Given the description of an element on the screen output the (x, y) to click on. 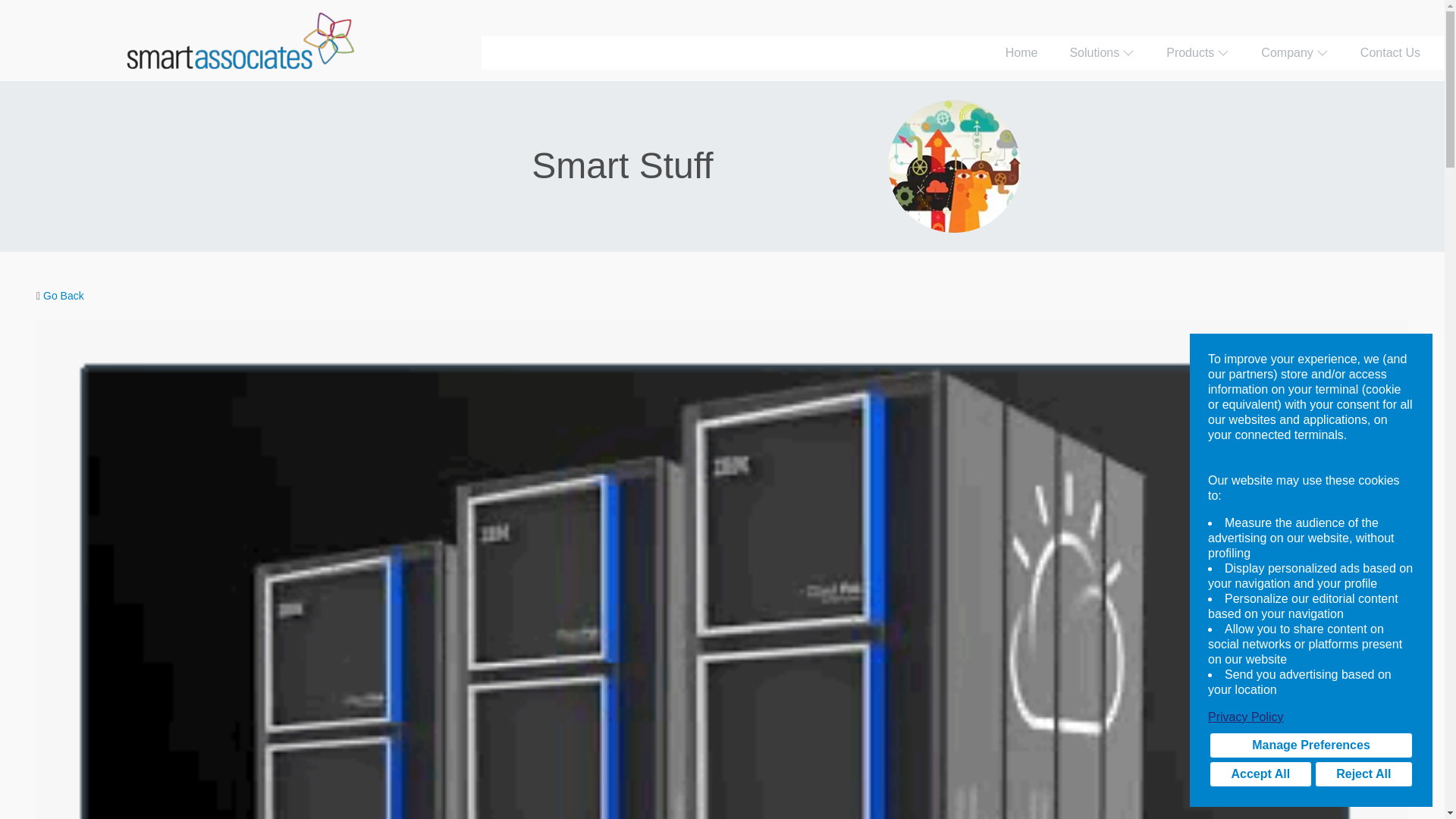
Reject All (1363, 774)
Solutions (1102, 52)
Privacy Policy (1310, 717)
Accept All (1260, 774)
Home (1021, 52)
Manage Preferences (1310, 745)
